Given the description of an element on the screen output the (x, y) to click on. 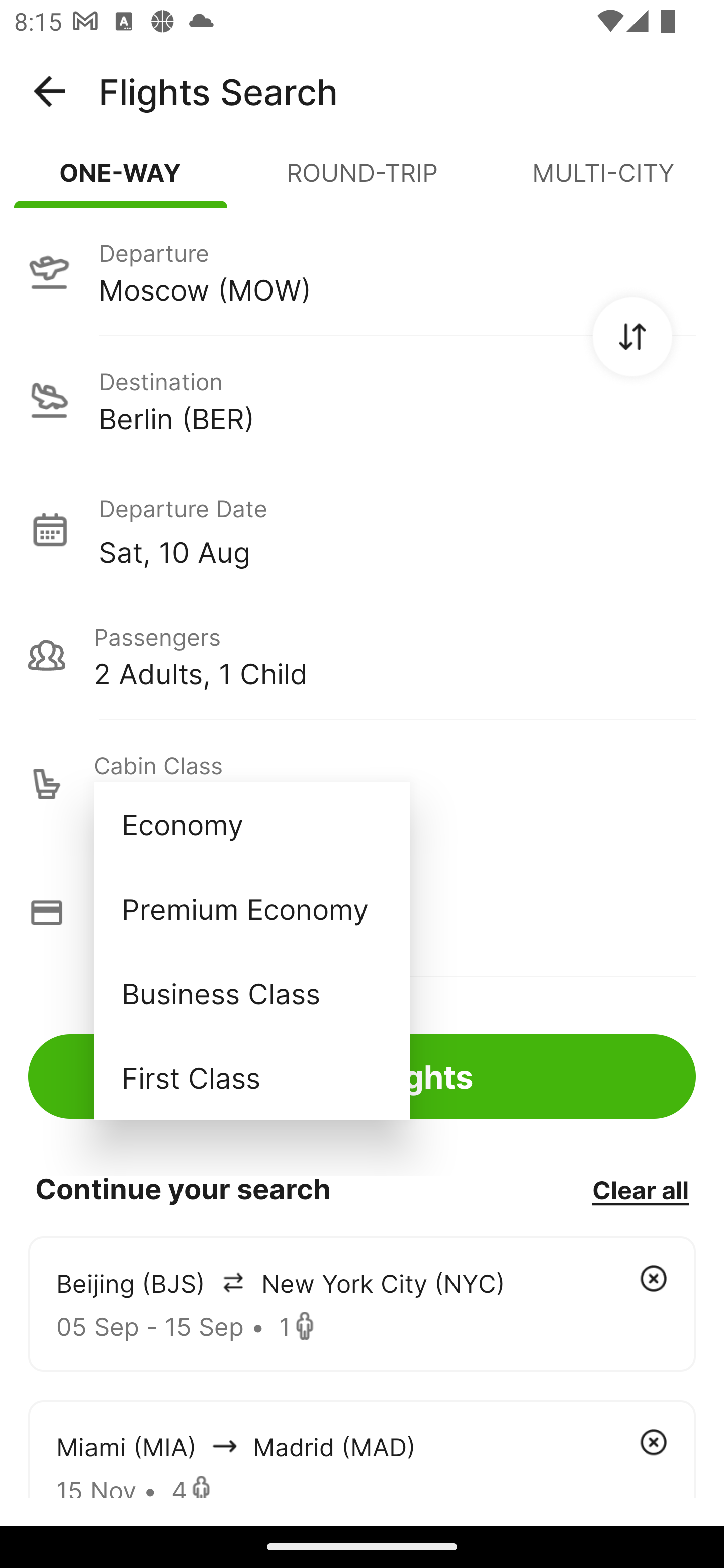
Economy (251, 824)
Premium Economy (251, 908)
Business Class (251, 992)
First Class (251, 1076)
